Given the description of an element on the screen output the (x, y) to click on. 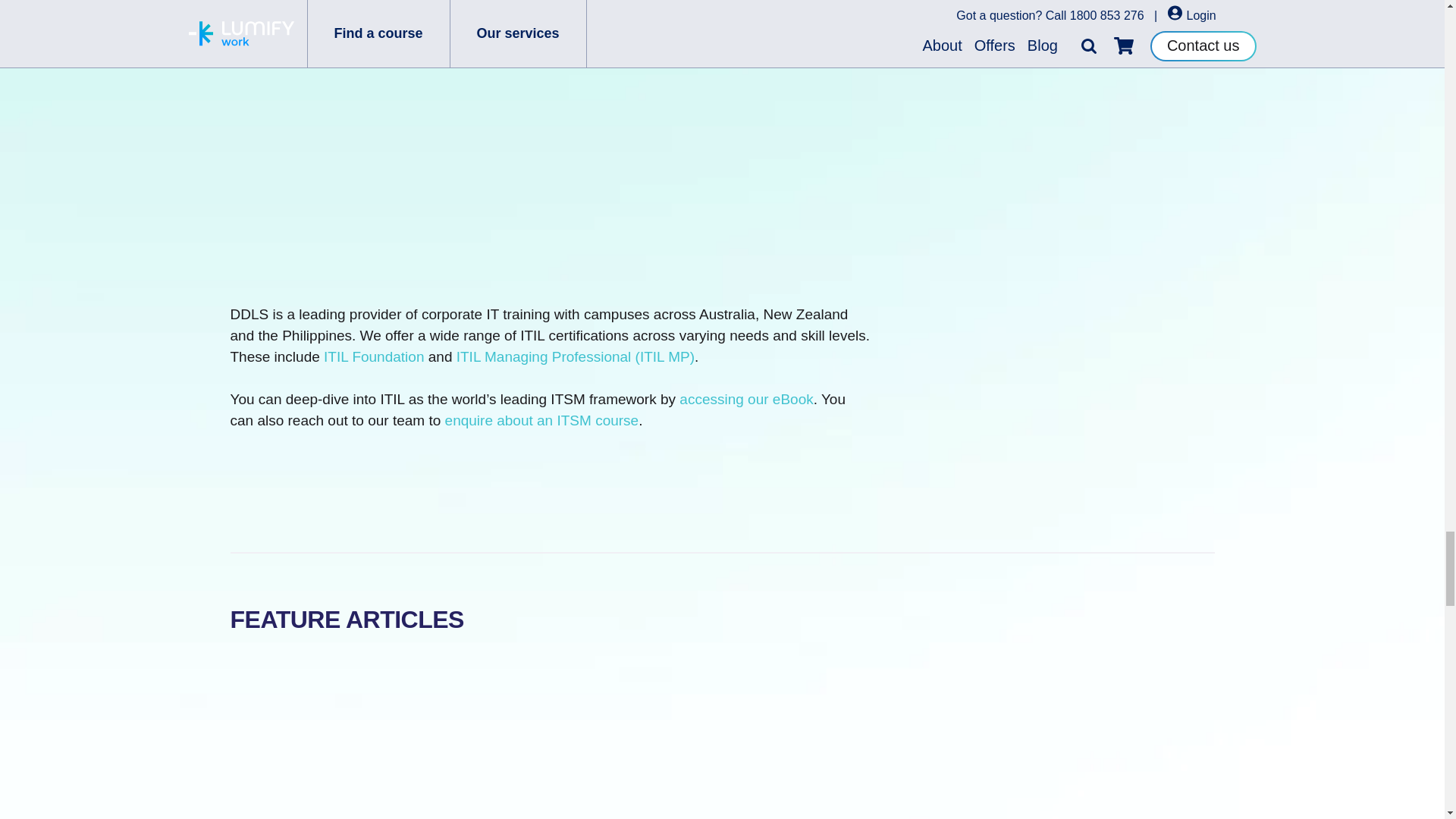
enquire about an ITSM course (542, 420)
accessing our eBook (745, 399)
ITIL Foundation (373, 356)
